Given the description of an element on the screen output the (x, y) to click on. 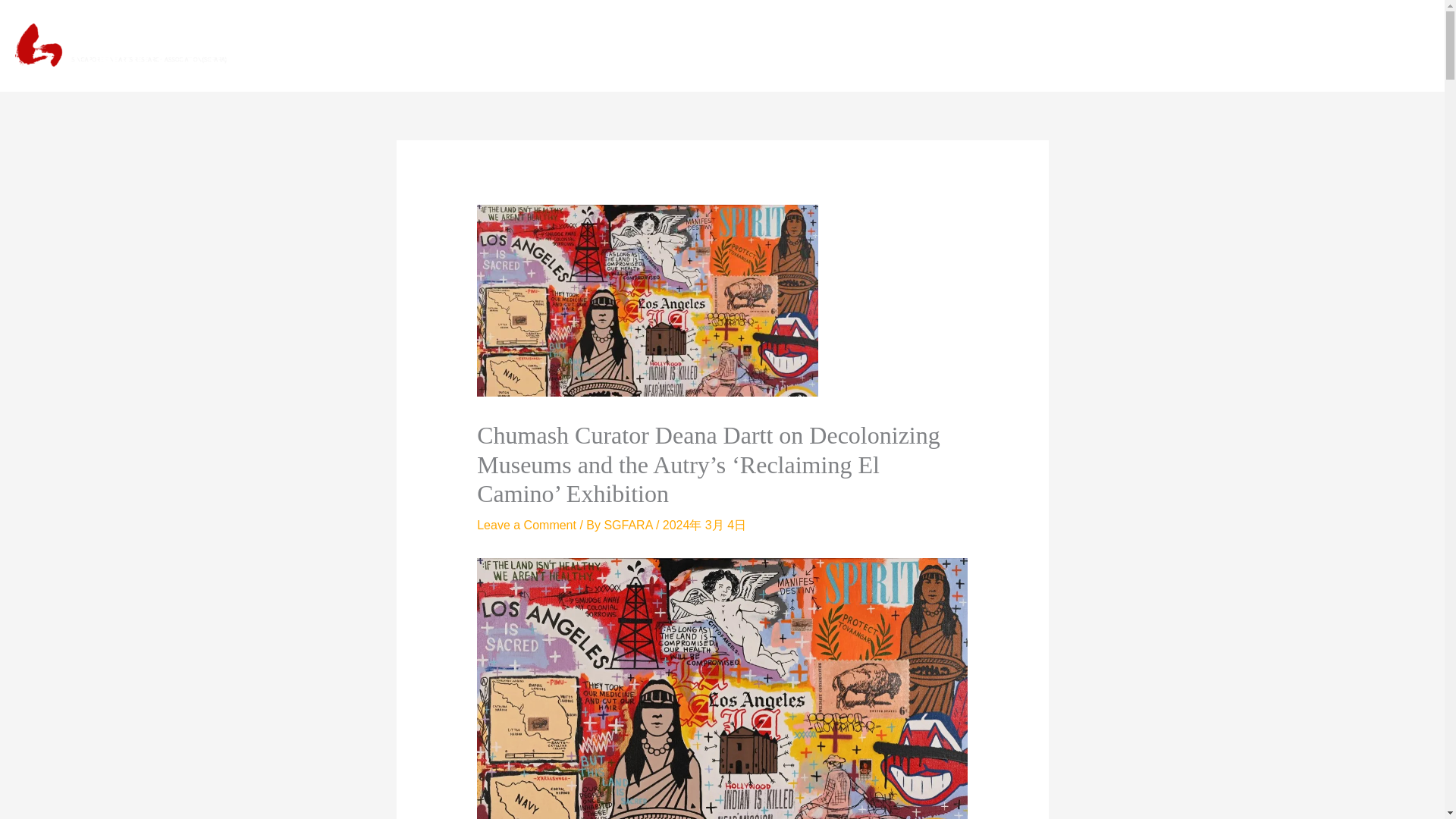
ArtNews (1011, 45)
View all posts by SGFARA (629, 524)
Home (883, 45)
Contact (1214, 45)
Member Login (1303, 45)
SGFARA (629, 524)
Join US (1393, 45)
Artitsts (1146, 45)
Leave a Comment (526, 524)
About (944, 45)
Events (1080, 45)
